Given the description of an element on the screen output the (x, y) to click on. 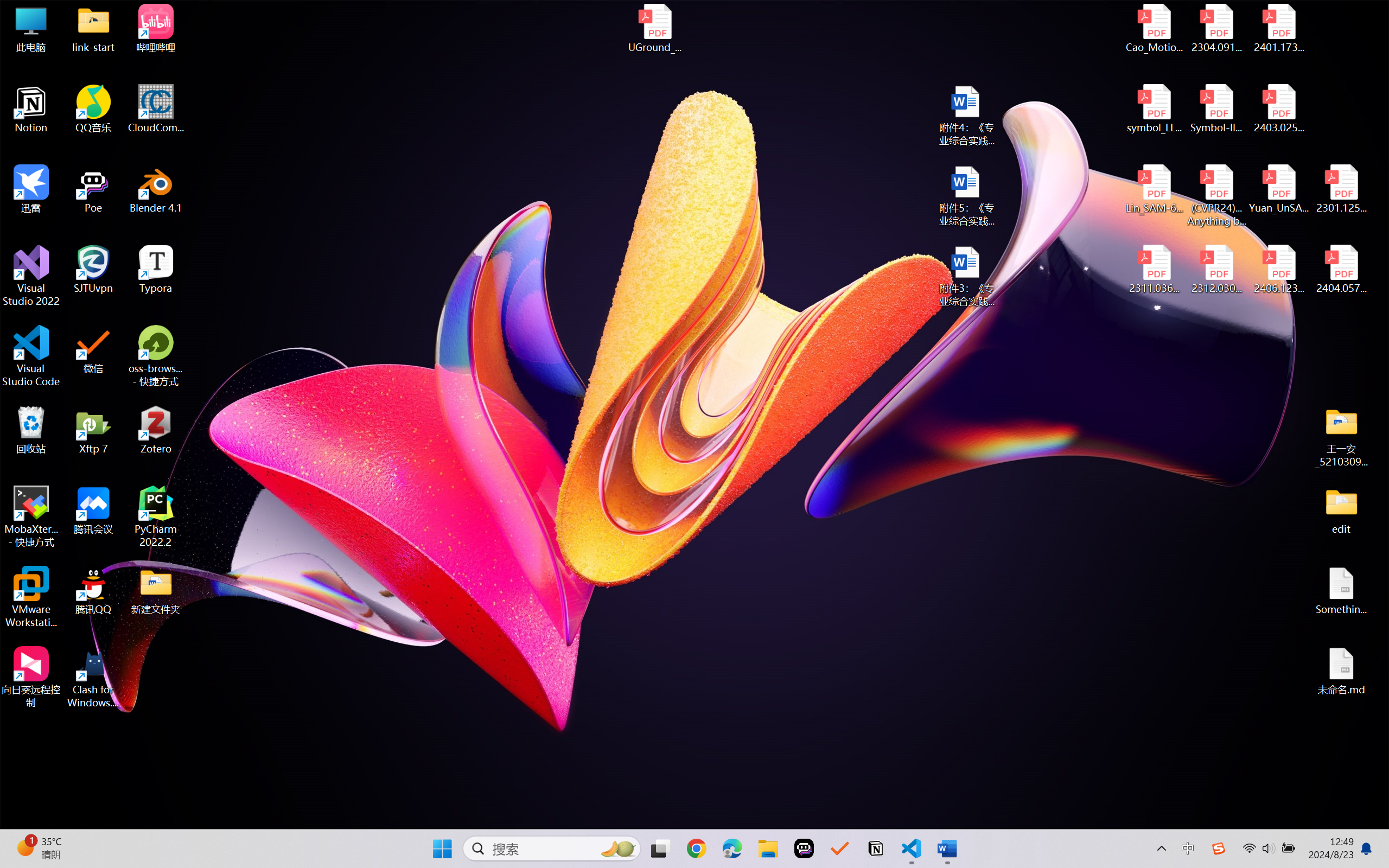
PyCharm 2022.2 (156, 516)
2404.05719v1.pdf (1340, 269)
2311.03658v2.pdf (1154, 269)
VMware Workstation Pro (31, 597)
2403.02502v1.pdf (1278, 109)
